Given the description of an element on the screen output the (x, y) to click on. 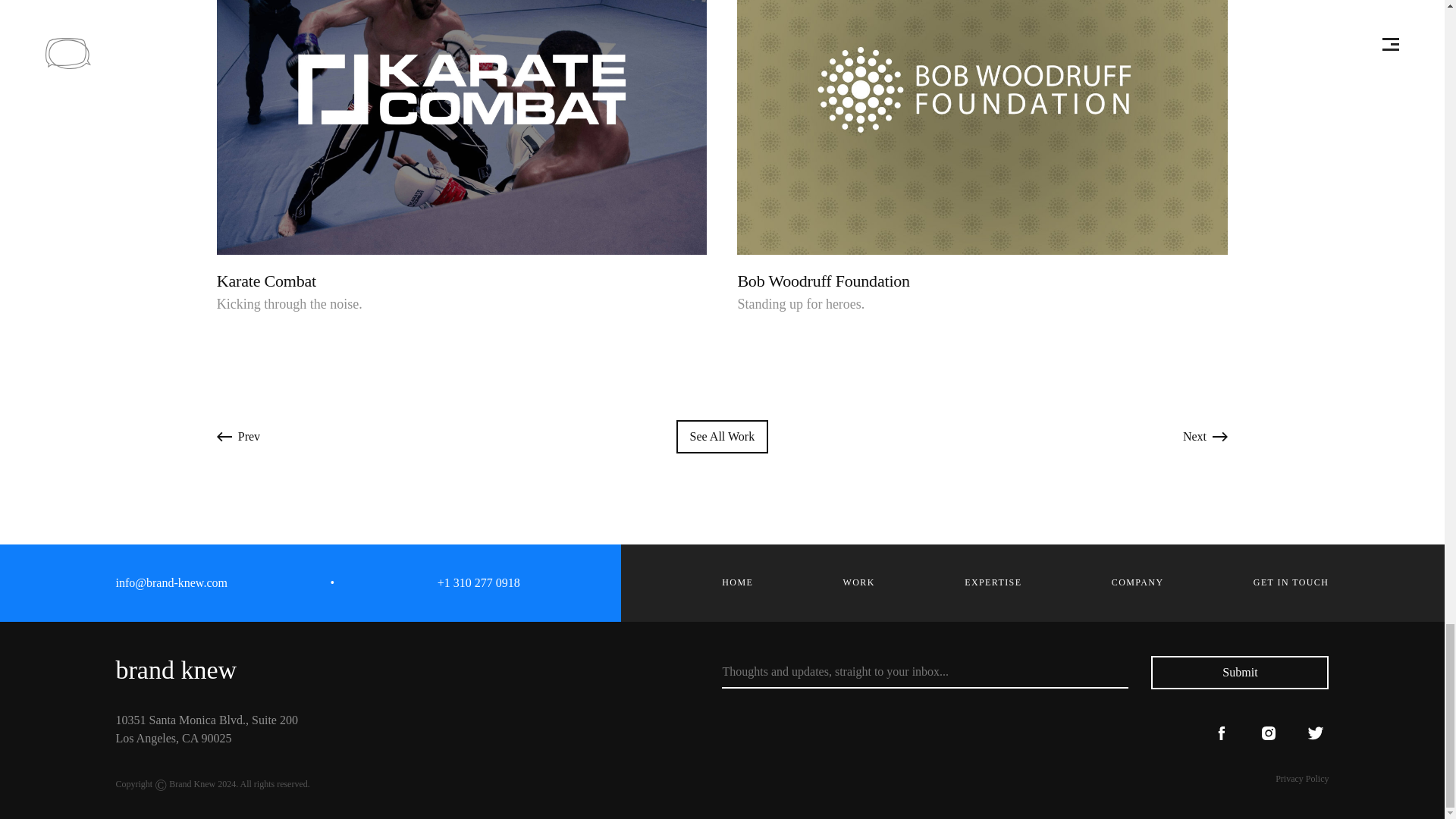
COMPANY (1137, 582)
Next (1204, 436)
Submit (1239, 672)
EXPERTISE (992, 582)
WORK (859, 582)
Privacy Policy (1301, 778)
